Given the description of an element on the screen output the (x, y) to click on. 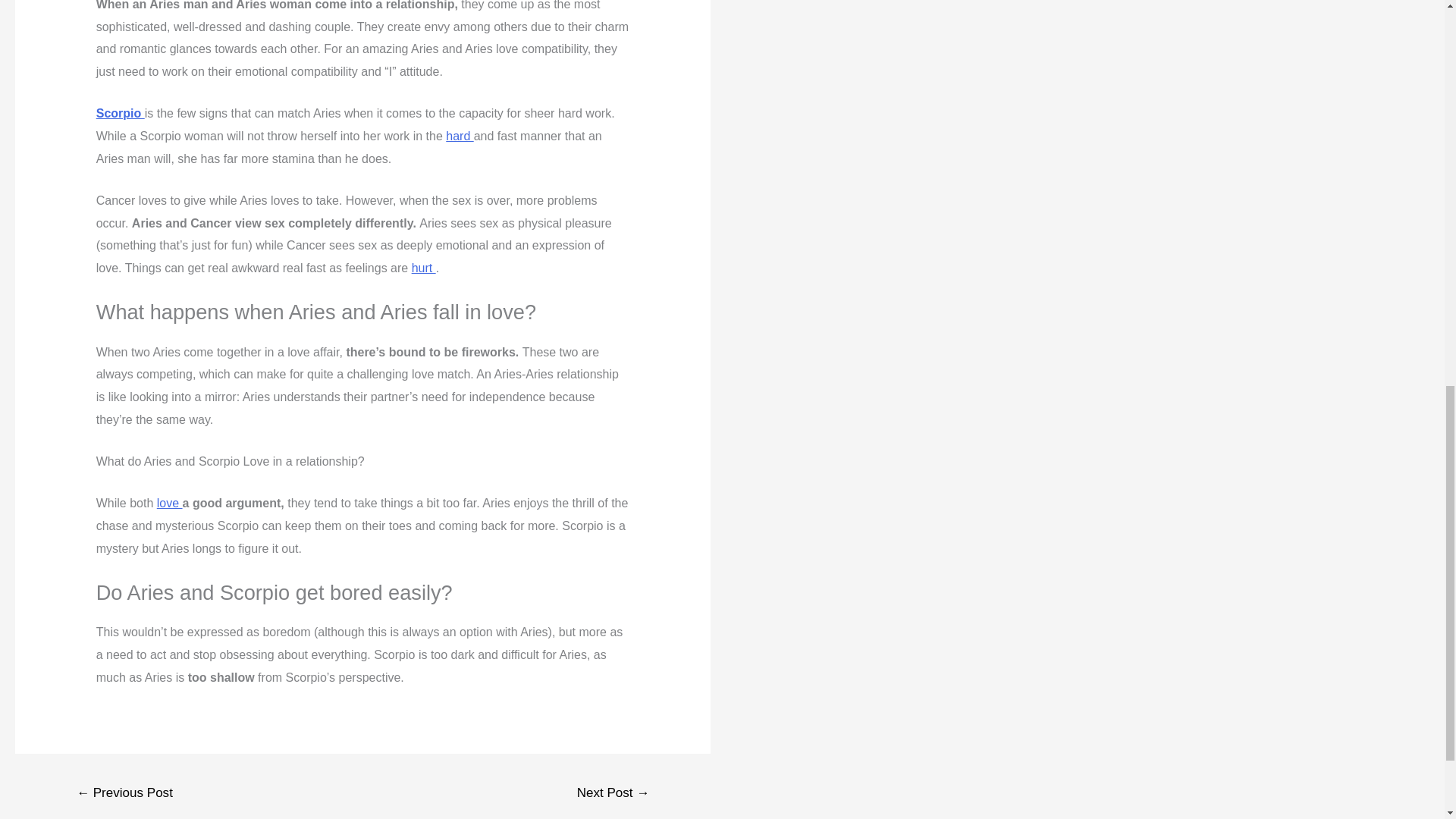
hurt (423, 267)
love (170, 502)
hard (459, 135)
Scorpio (120, 113)
